Given the description of an element on the screen output the (x, y) to click on. 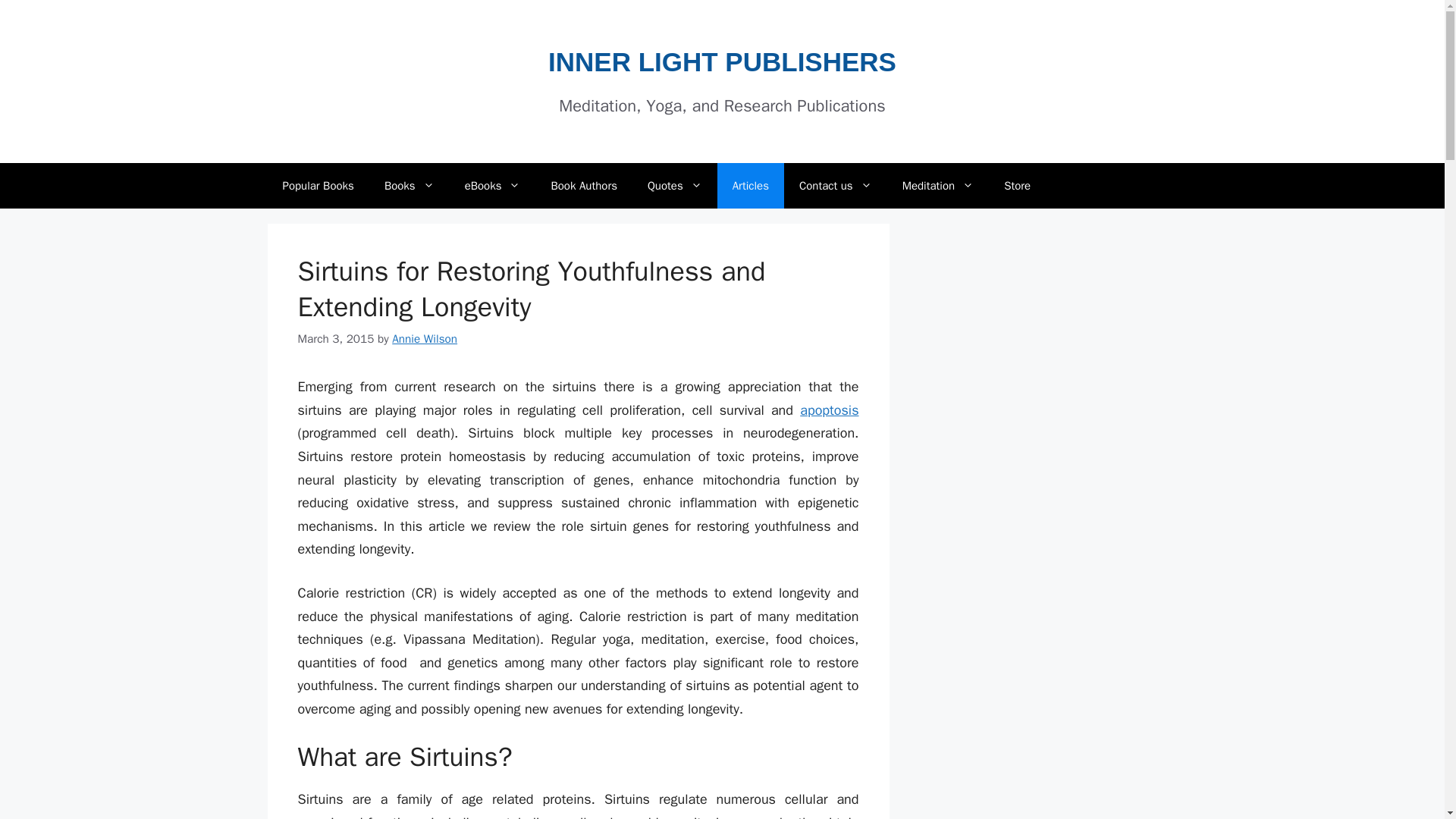
View all posts by Annie Wilson (424, 338)
Book Authors (583, 185)
eBooks (492, 185)
INNER LIGHT PUBLISHERS (722, 61)
Popular Books (317, 185)
Books (409, 185)
Quotes (674, 185)
